Given the description of an element on the screen output the (x, y) to click on. 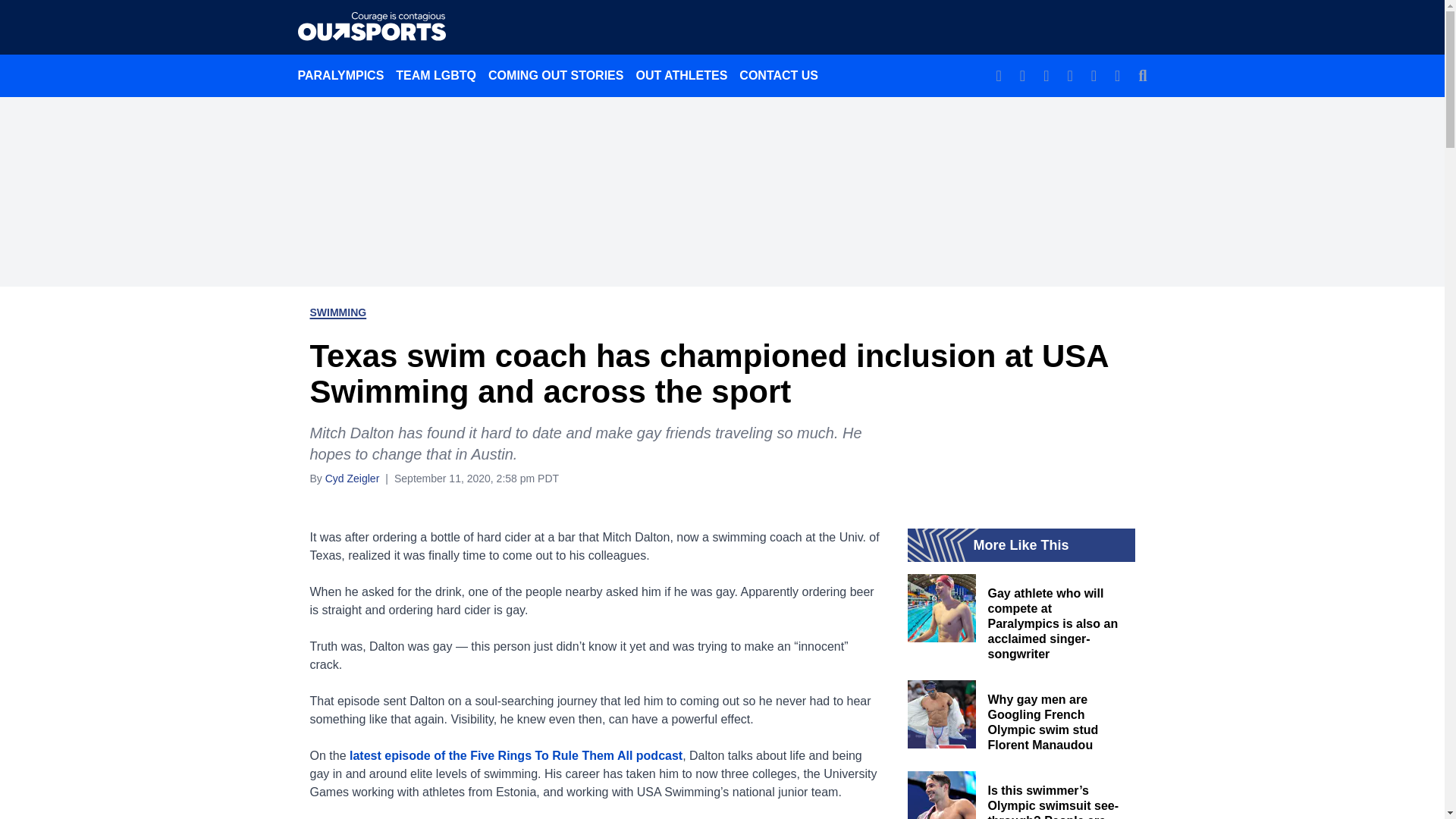
COMING OUT STORIES (554, 75)
PARALYMPICS (340, 75)
TEAM LGBTQ (435, 75)
CONTACT US (778, 75)
OUT ATHLETES (680, 75)
latest episode of the Five Rings To Rule Them All podcast (515, 755)
Cyd Zeigler (352, 477)
SWIMMING (337, 312)
